Given the description of an element on the screen output the (x, y) to click on. 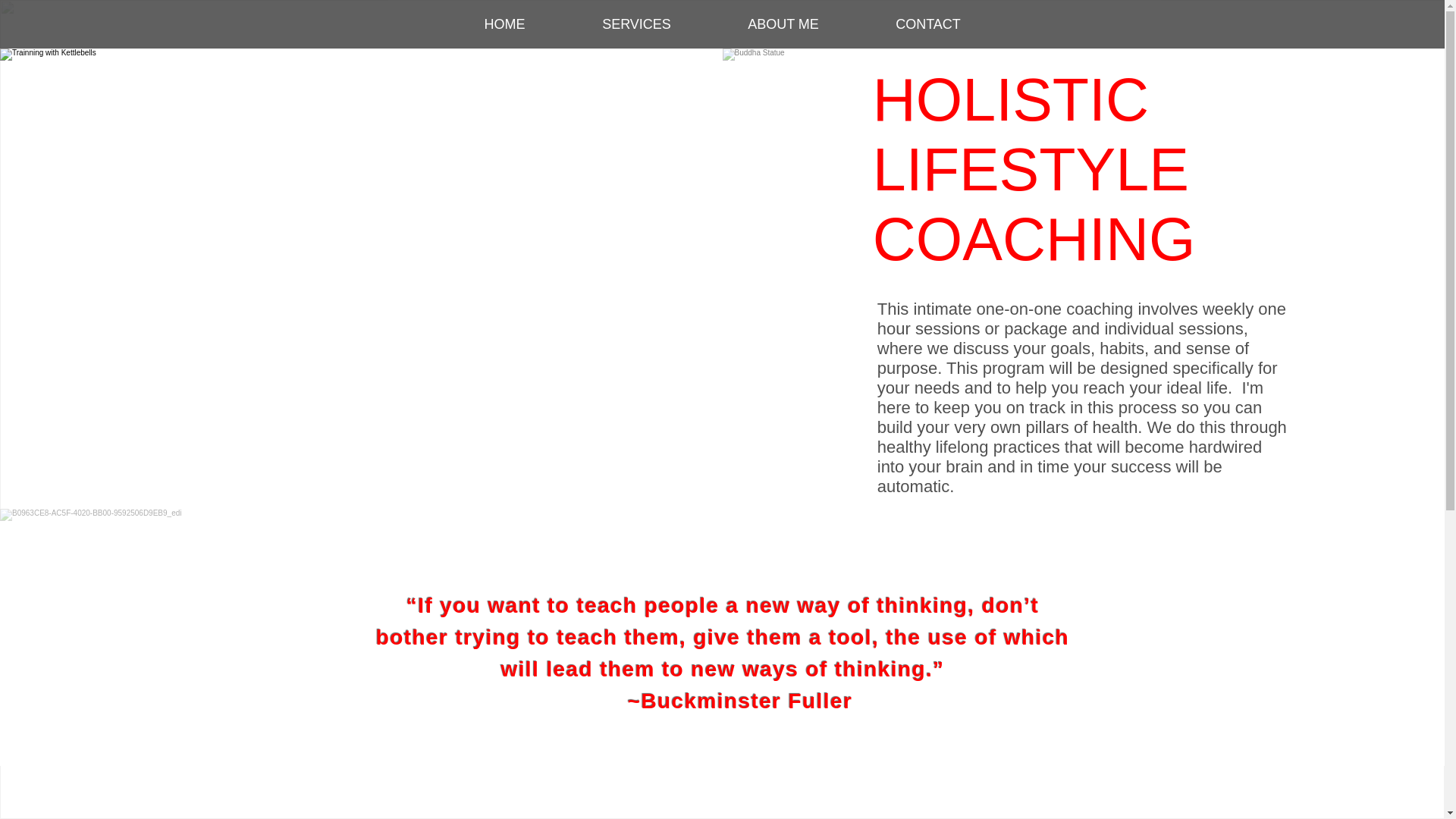
CONTACT (927, 24)
SERVICES (637, 24)
ABOUT ME (783, 24)
HOME (504, 24)
